Given the description of an element on the screen output the (x, y) to click on. 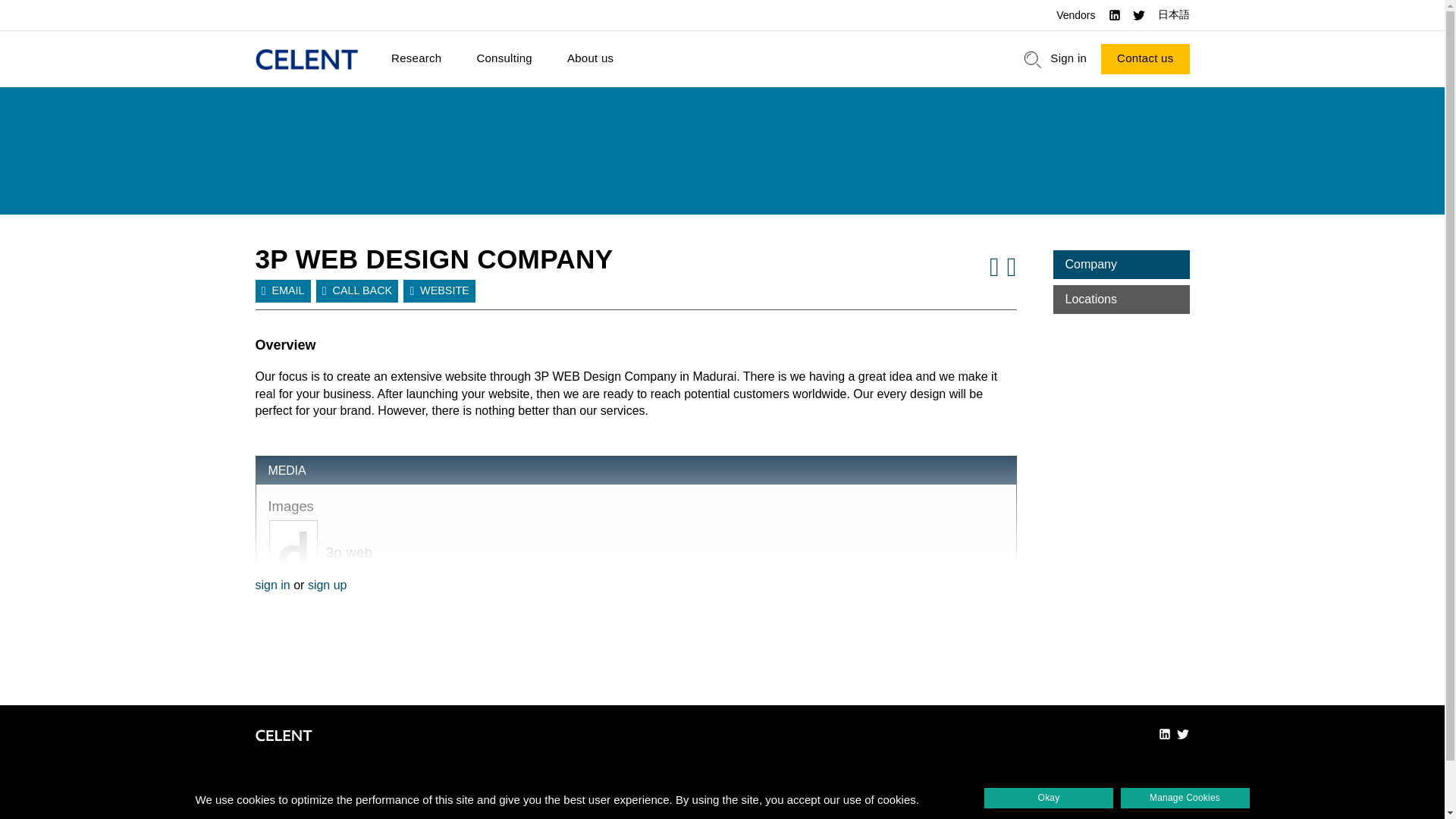
Okay (1048, 797)
Vendors (1075, 15)
Research (415, 59)
Manage Cookies (1185, 797)
About us (590, 59)
Sign in (1068, 59)
search (1032, 58)
Consulting (503, 59)
Home (306, 59)
Contact us (1144, 59)
